Given the description of an element on the screen output the (x, y) to click on. 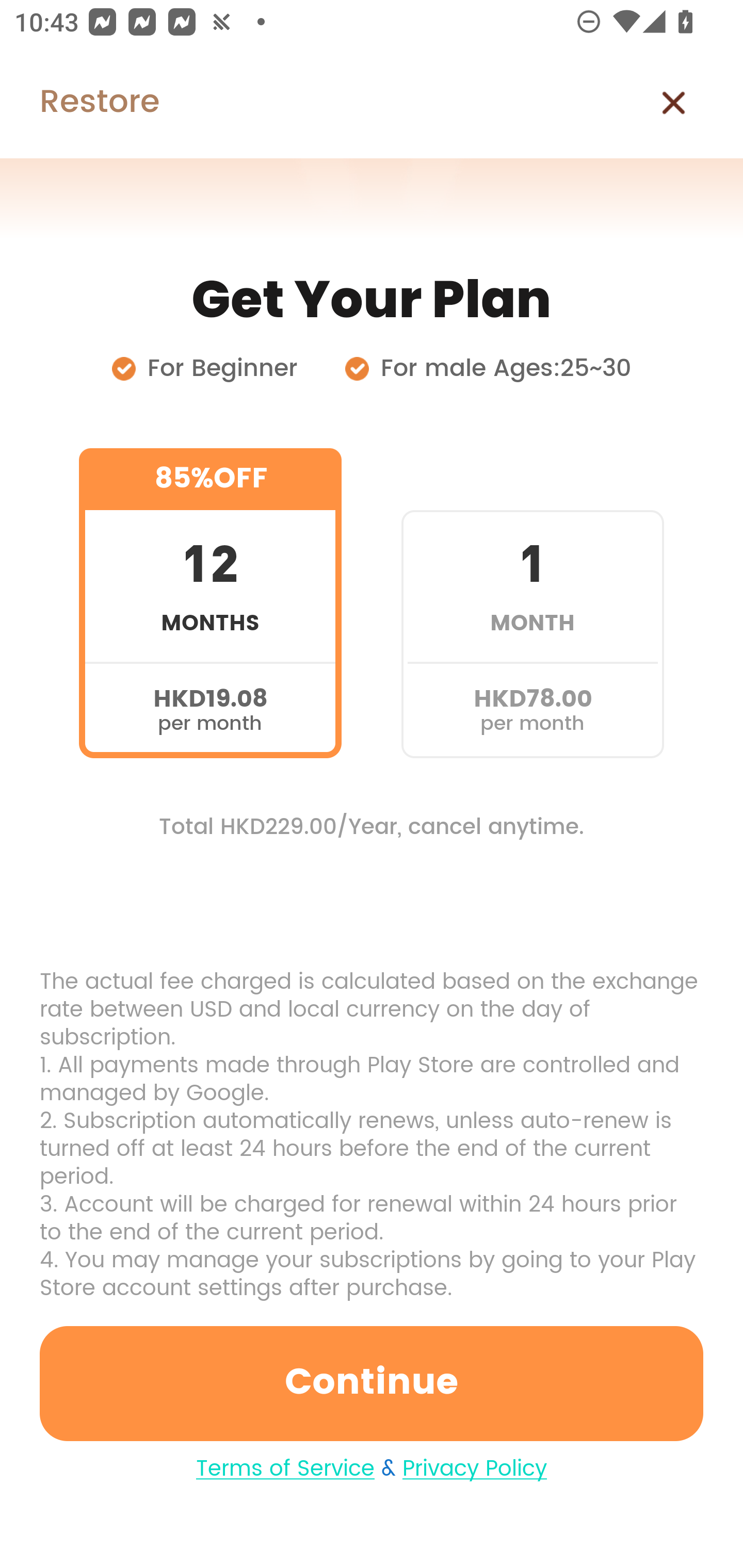
Restore (79, 102)
85%OFF 12 MONTHS per month HKD19.08 (209, 603)
1 MONTH per month HKD78.00 (532, 603)
Continue (371, 1383)
